Given the description of an element on the screen output the (x, y) to click on. 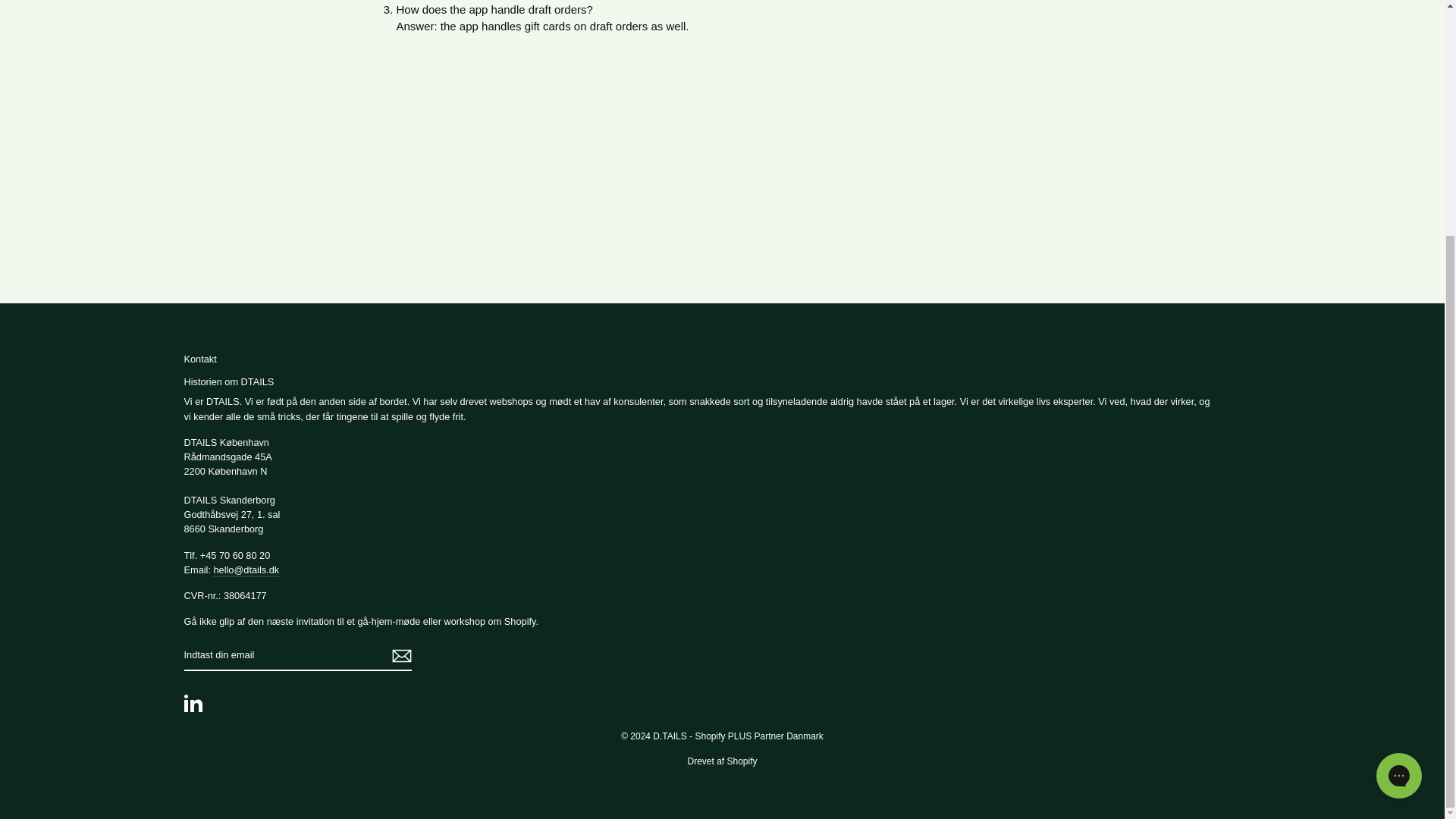
Gorgias live chat messenger (1398, 454)
